Given the description of an element on the screen output the (x, y) to click on. 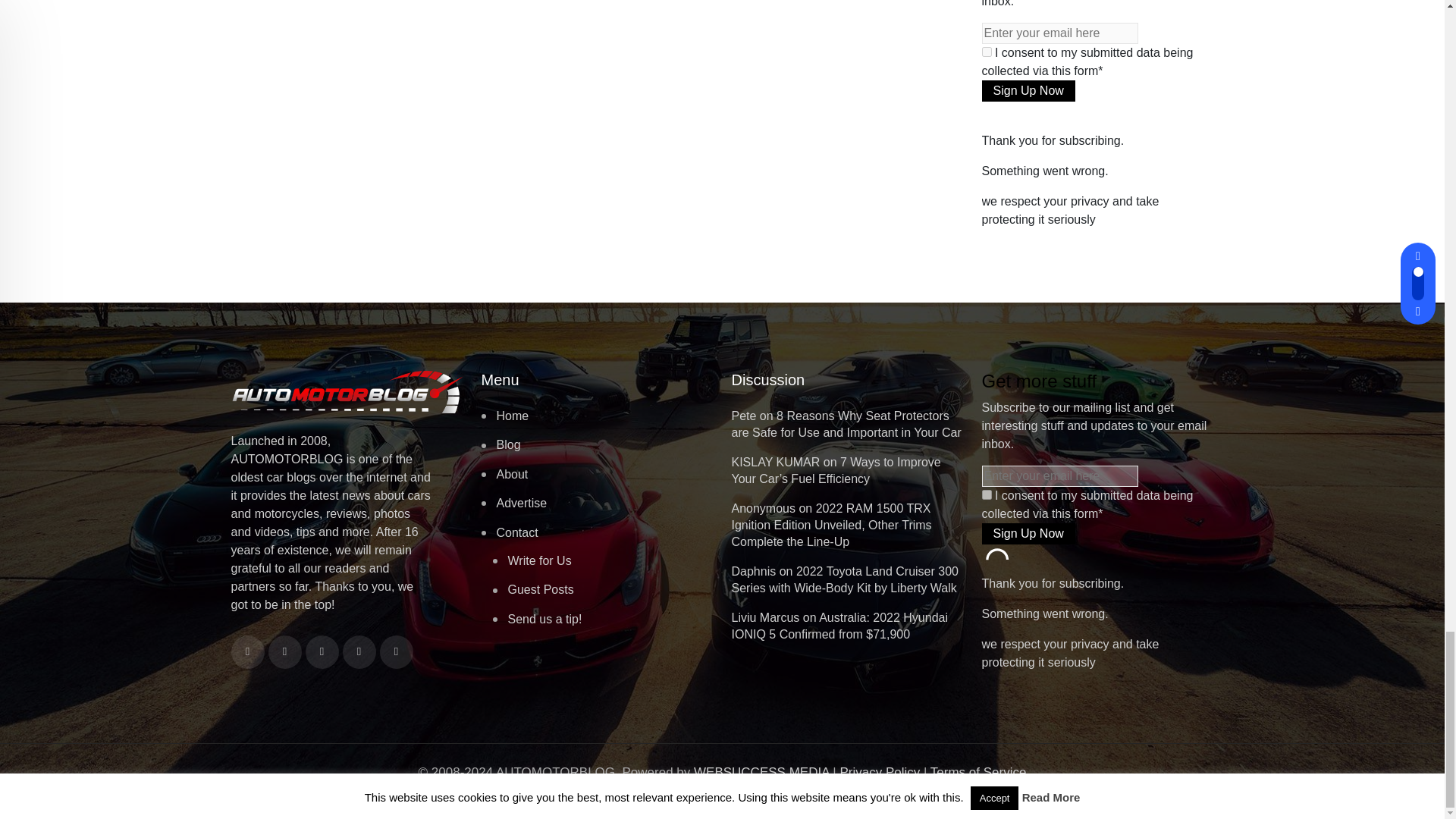
Sign Up Now (1027, 90)
on (986, 51)
